Given the description of an element on the screen output the (x, y) to click on. 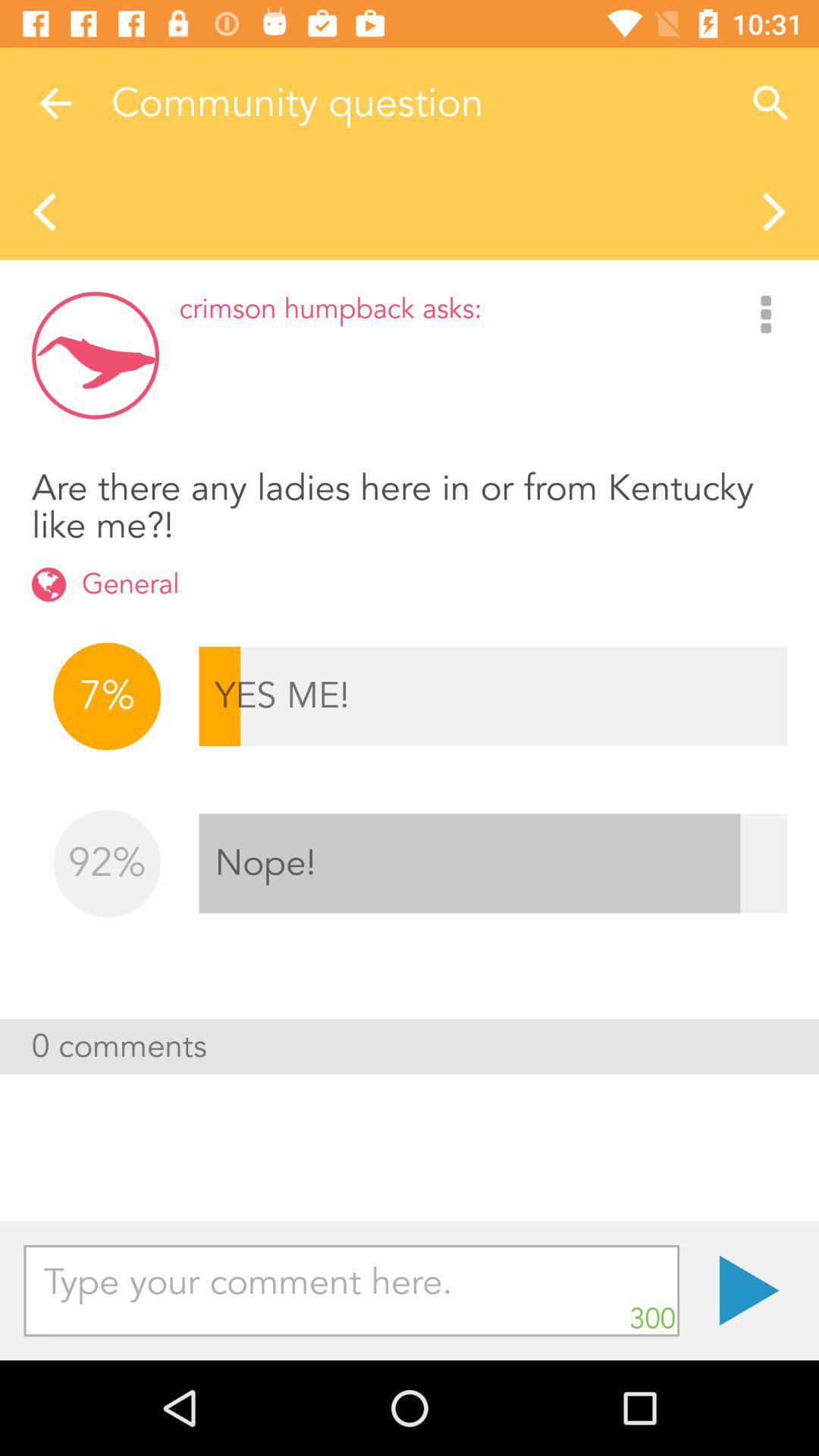
select the item next to the . item (351, 1290)
